Given the description of an element on the screen output the (x, y) to click on. 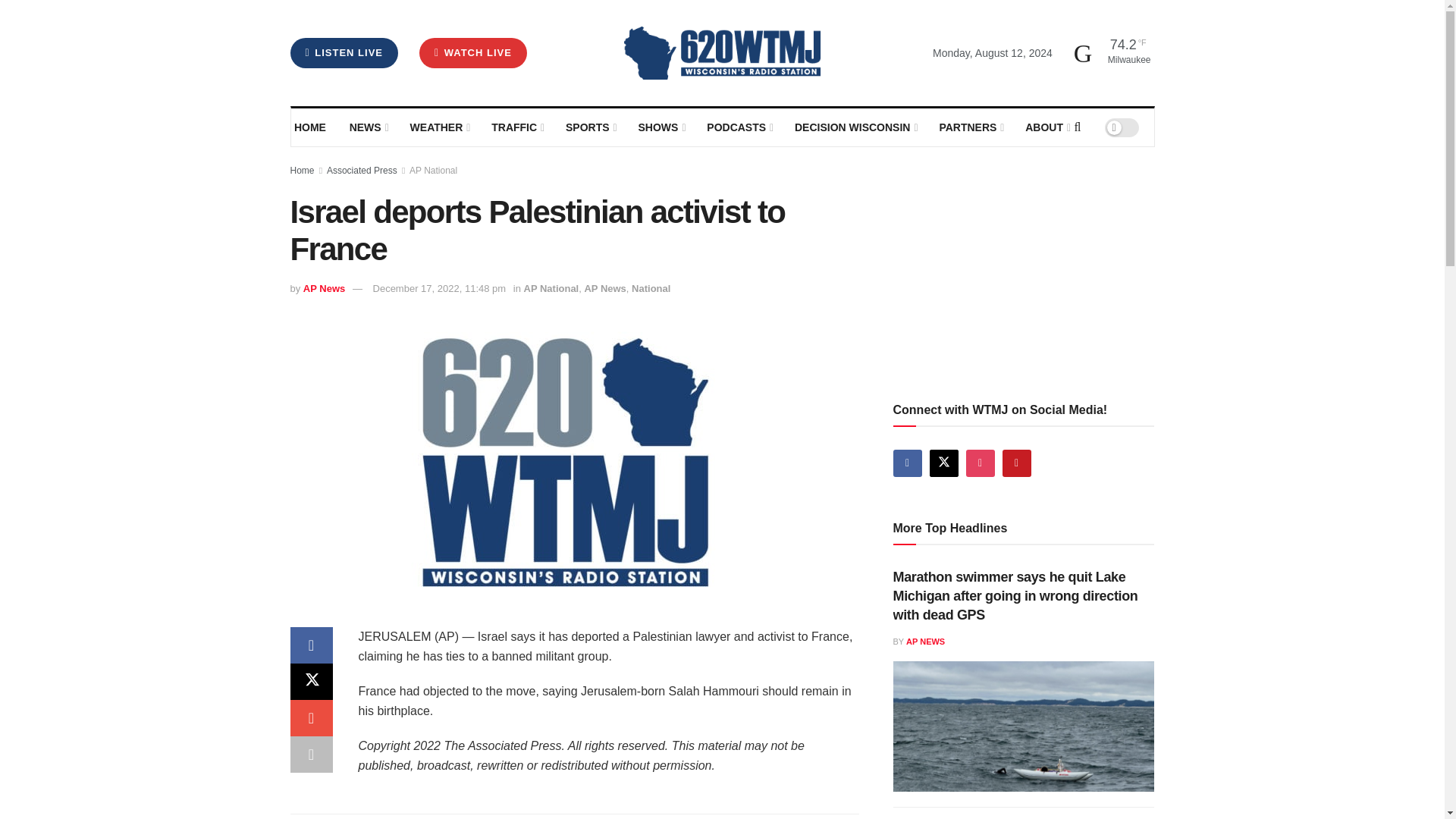
LISTEN LIVE (343, 52)
WEATHER (438, 127)
TRAFFIC (516, 127)
HOME (310, 127)
NEWS (368, 127)
WATCH LIVE (473, 52)
SPORTS (589, 127)
